Given the description of an element on the screen output the (x, y) to click on. 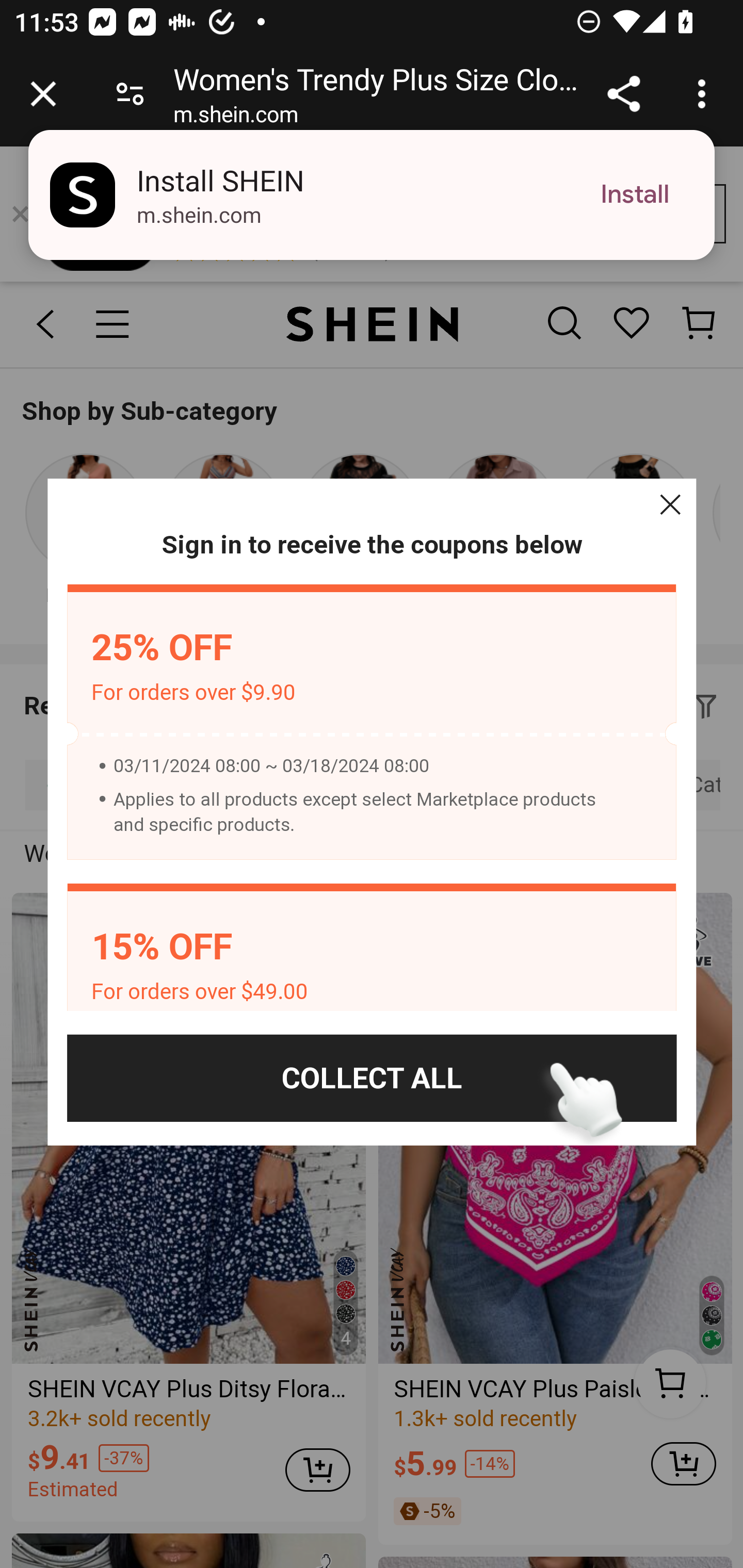
Close tab (43, 93)
Share link address (623, 93)
Customize and control Google Chrome (705, 93)
Connection is secure (129, 93)
m.shein.com (235, 117)
Install (634, 195)
Close (669, 503)
COLLECT ALL (371, 1077)
